Given the description of an element on the screen output the (x, y) to click on. 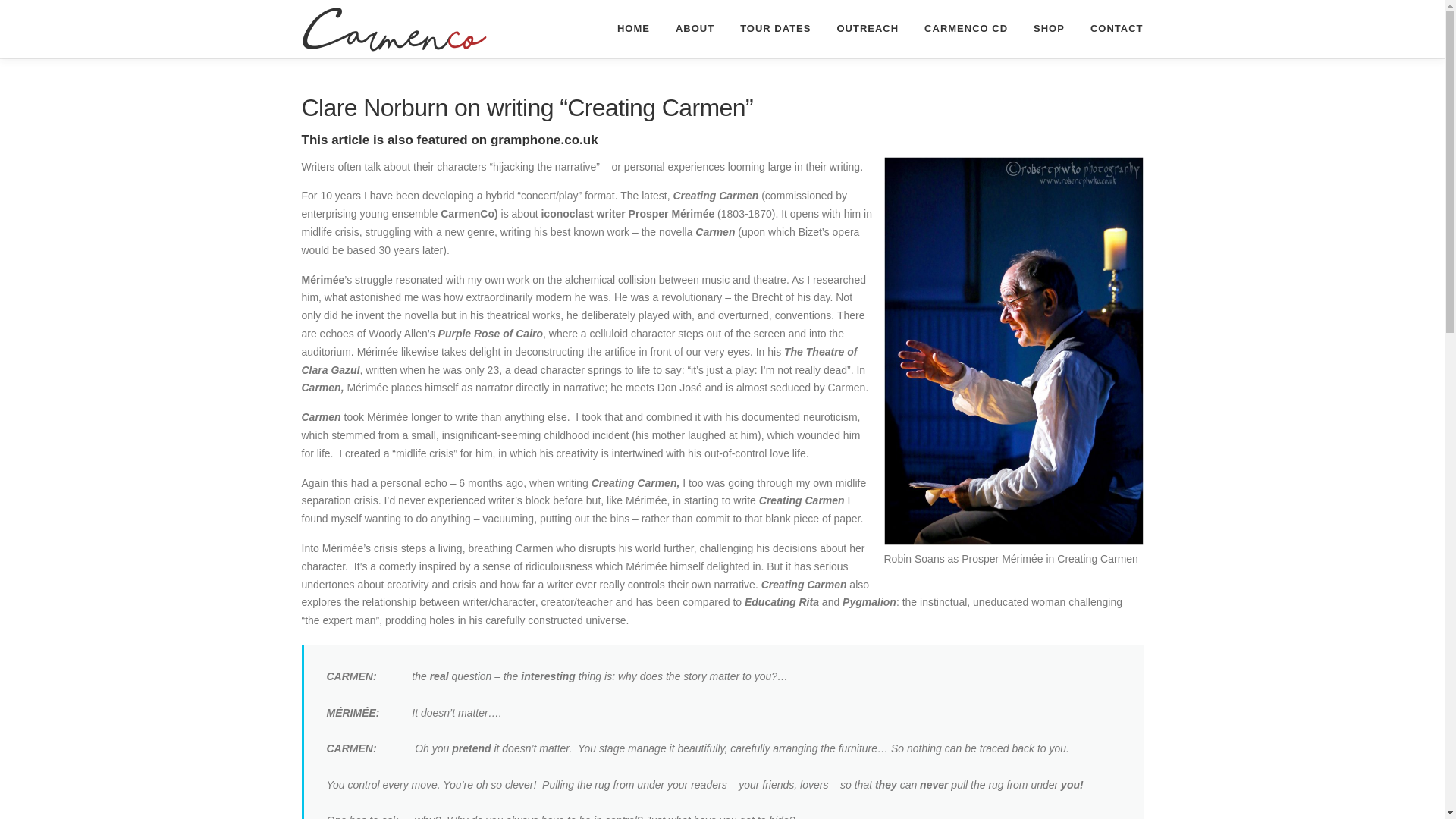
CONTACT (1109, 28)
ABOUT (694, 28)
CARMENCO CD (965, 28)
gramphone.co.uk (544, 139)
SHOP (1048, 28)
Skip to content (34, 9)
TOUR DATES (775, 28)
HOME (633, 28)
OUTREACH (867, 28)
